Given the description of an element on the screen output the (x, y) to click on. 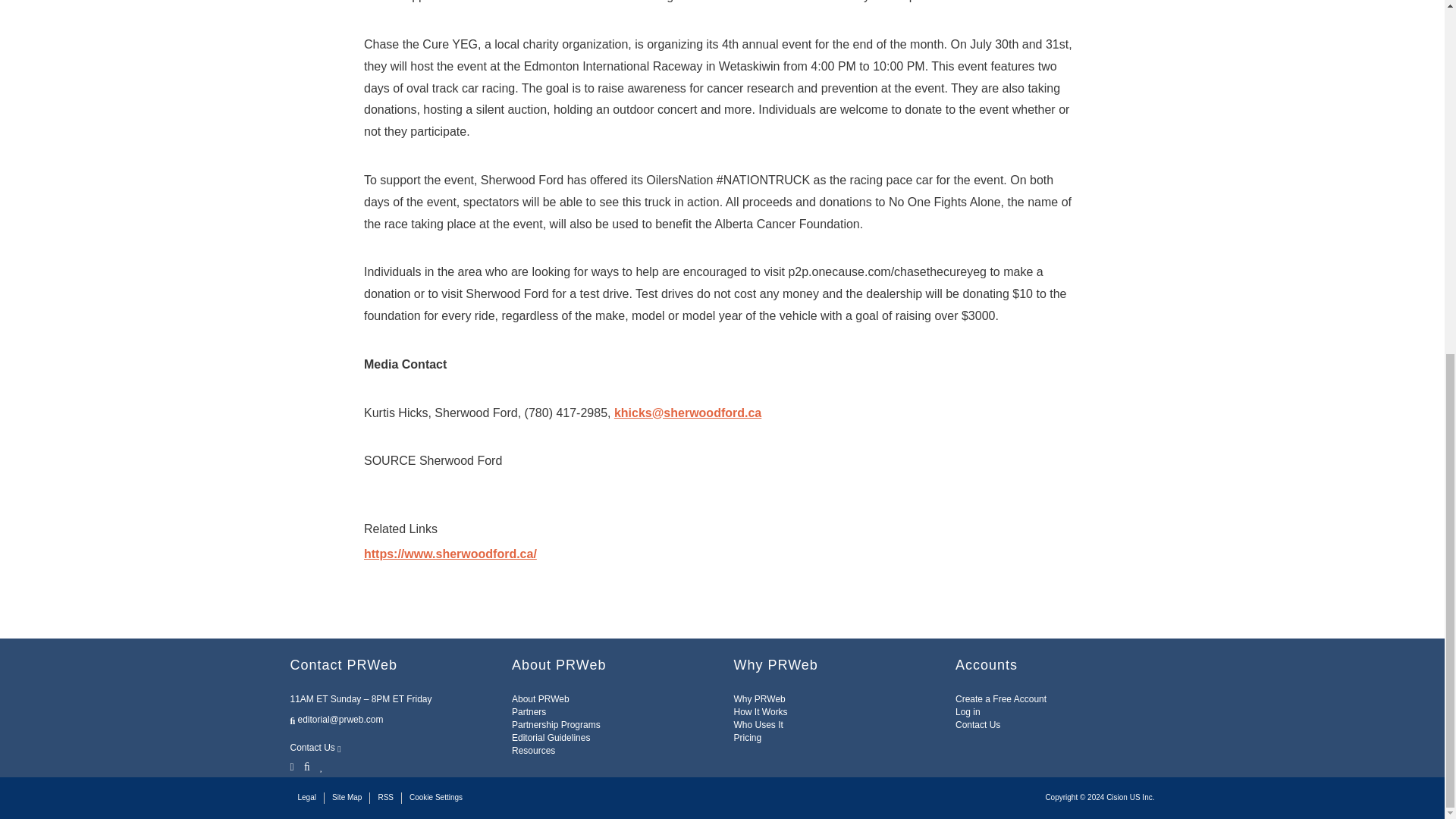
Facebook (306, 765)
Partners (529, 711)
Editorial Guidelines (550, 737)
Partnership Programs (555, 724)
Resources (533, 750)
About PRWeb (540, 698)
